Given the description of an element on the screen output the (x, y) to click on. 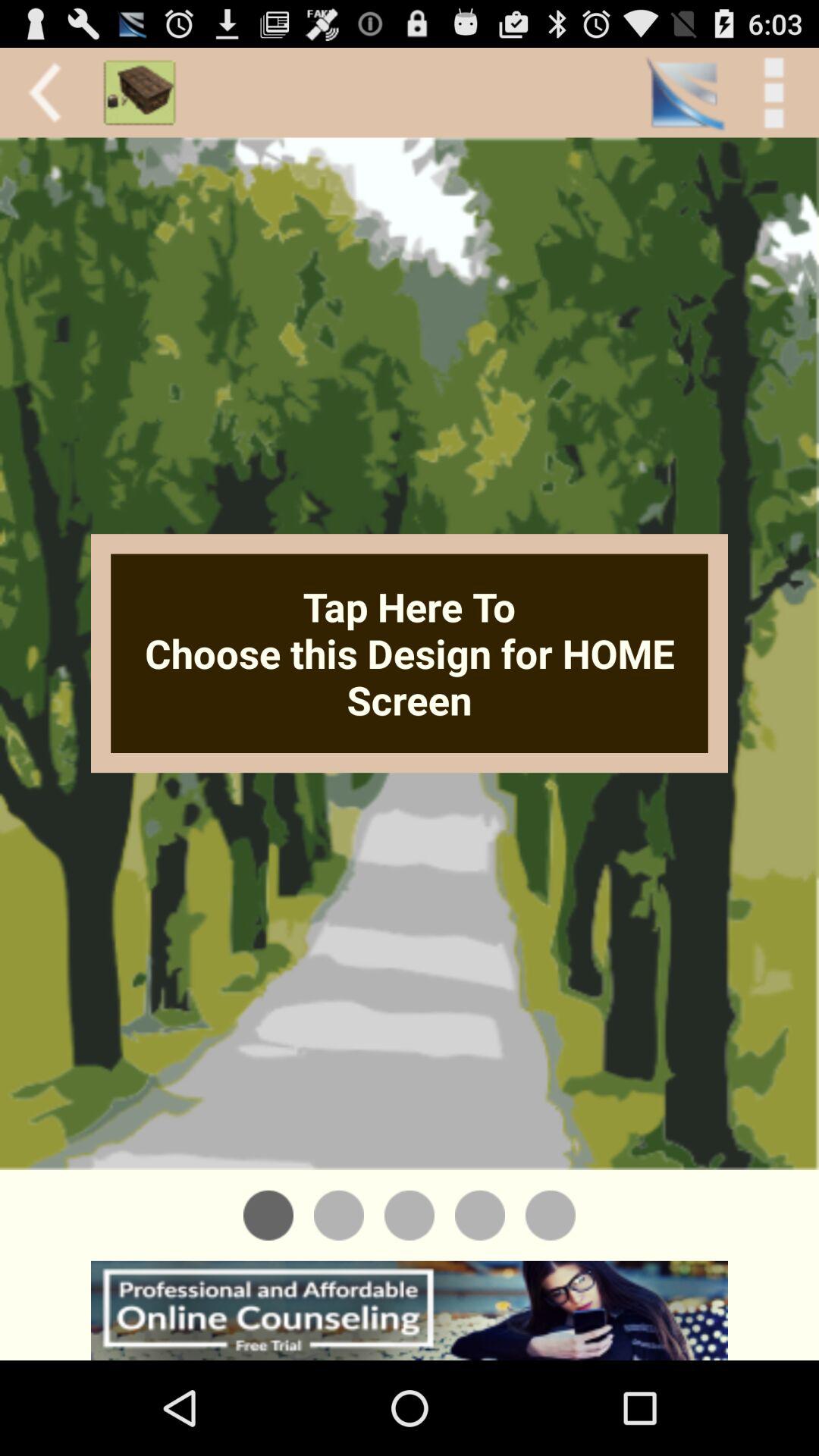
see different design (550, 1215)
